Given the description of an element on the screen output the (x, y) to click on. 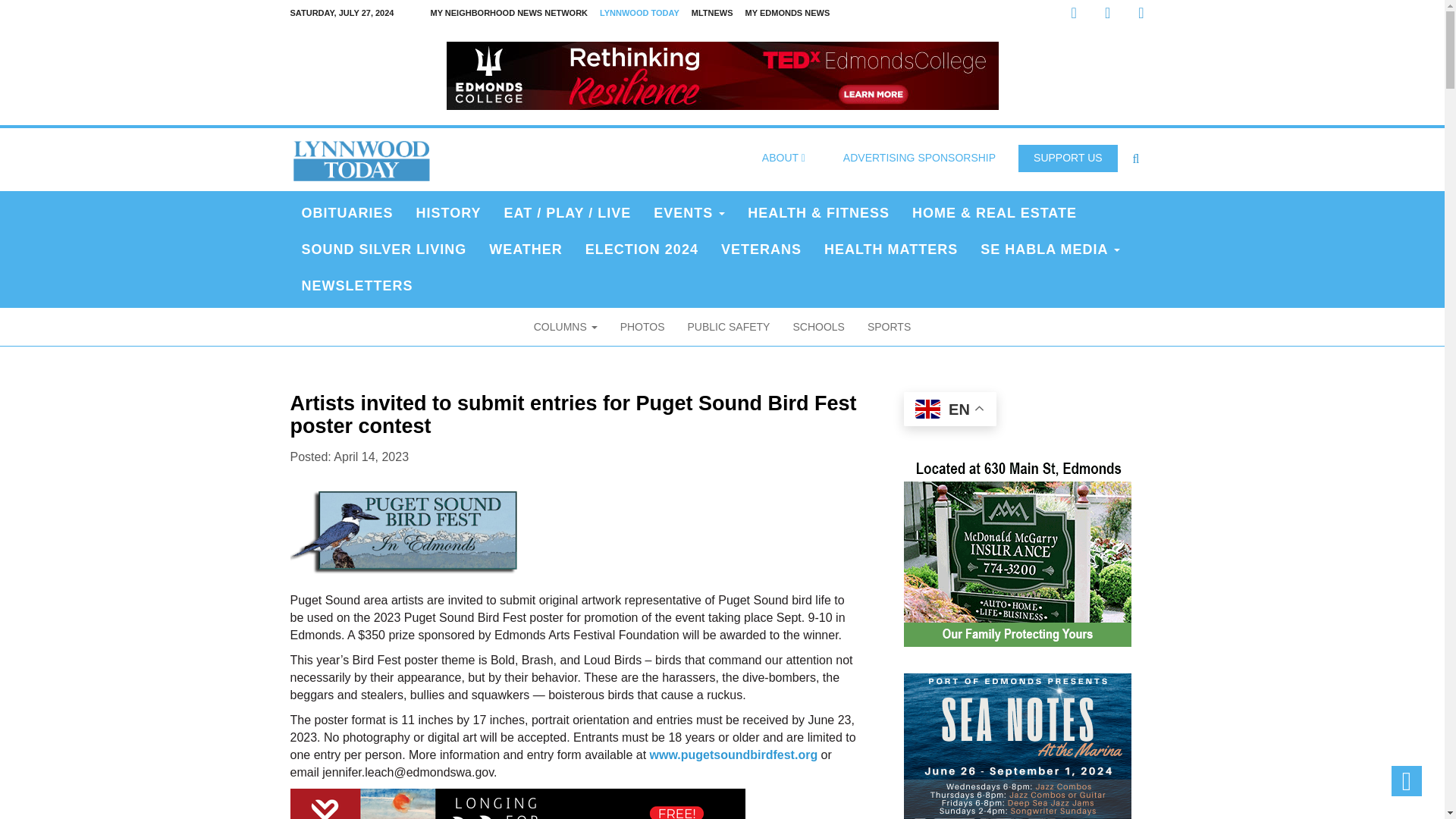
SOUND SILVER LIVING (383, 248)
MY EDMONDS NEWS (787, 13)
Veterans (761, 248)
MY NEIGHBORHOOD NEWS NETWORK (508, 13)
SE HABLA MEDIA (1050, 248)
NEWSLETTERS (356, 285)
EVENTS (689, 212)
HEALTH MATTERS (890, 248)
WEATHER (525, 248)
HISTORY (448, 212)
Obituaries (346, 212)
Events (689, 212)
Lynnwood Today (360, 157)
ABOUT (783, 157)
VETERANS (761, 248)
